Given the description of an element on the screen output the (x, y) to click on. 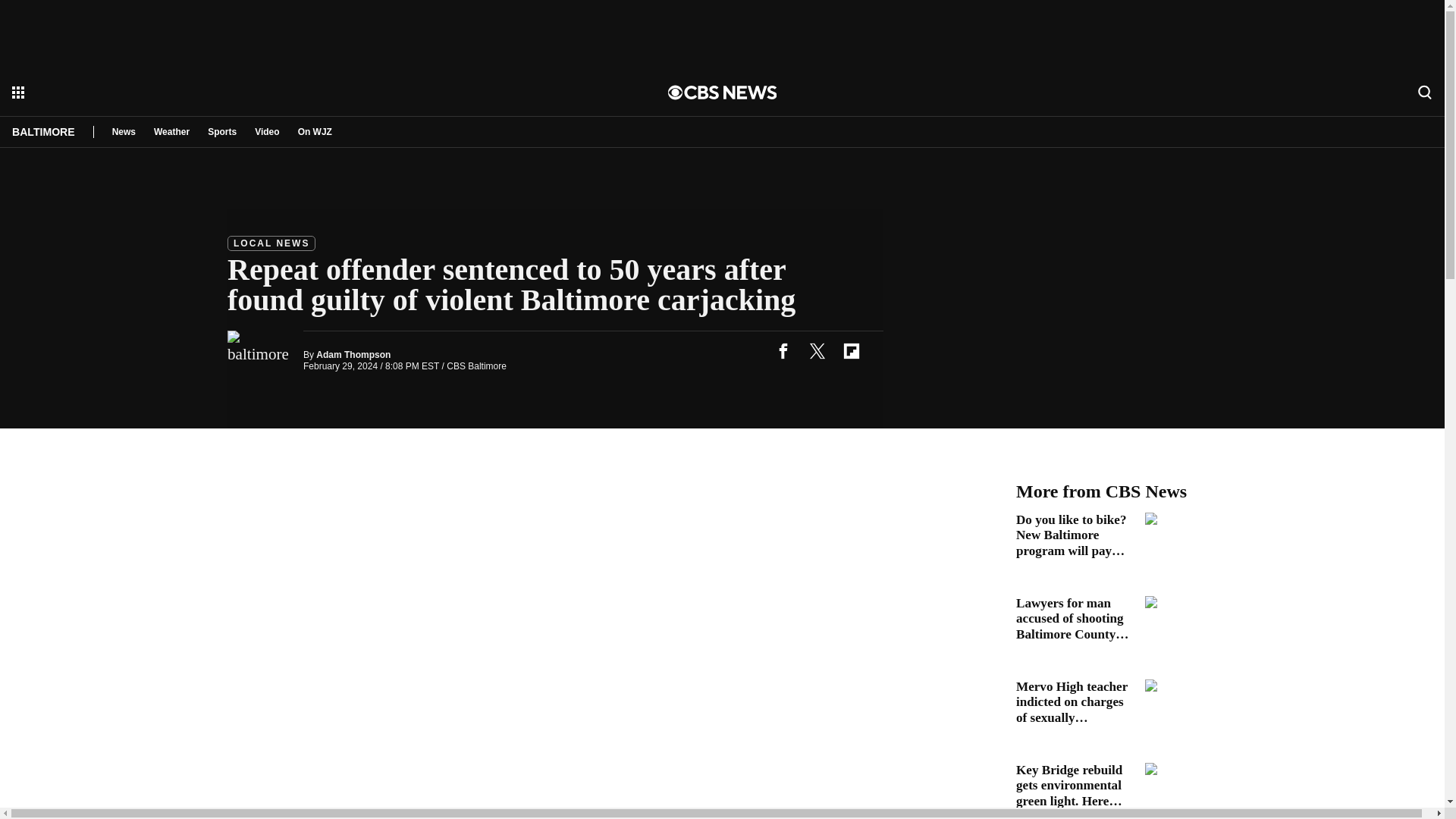
flipboard (850, 350)
facebook (782, 350)
twitter (816, 350)
